Given the description of an element on the screen output the (x, y) to click on. 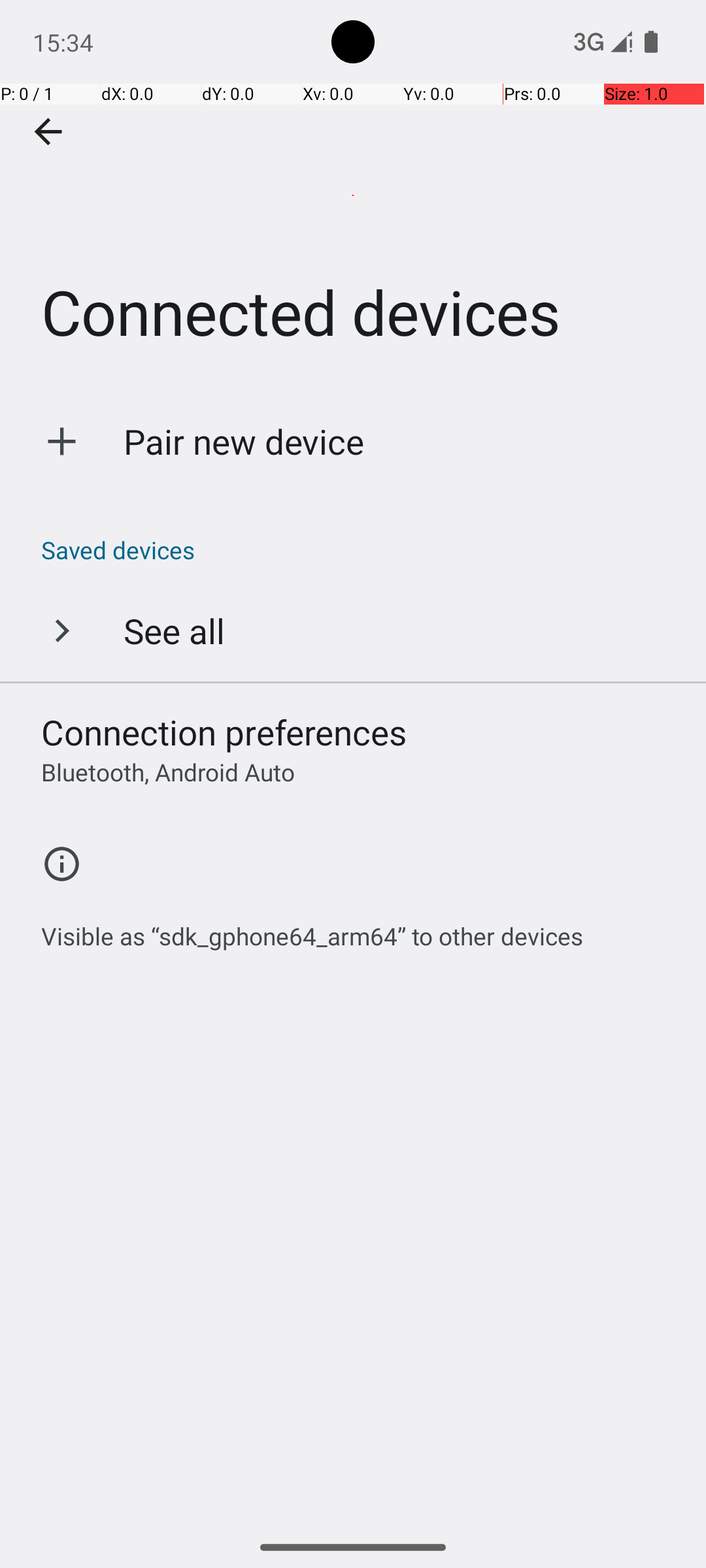
Pair new device Element type: android.widget.TextView (243, 441)
Saved devices Element type: android.widget.TextView (359, 549)
See all Element type: android.widget.TextView (173, 630)
Connection preferences Element type: android.widget.TextView (224, 731)
Bluetooth, Android Auto Element type: android.widget.TextView (167, 771)
Visible as “sdk_gphone64_arm64” to other devices Element type: android.widget.TextView (312, 928)
